Given the description of an element on the screen output the (x, y) to click on. 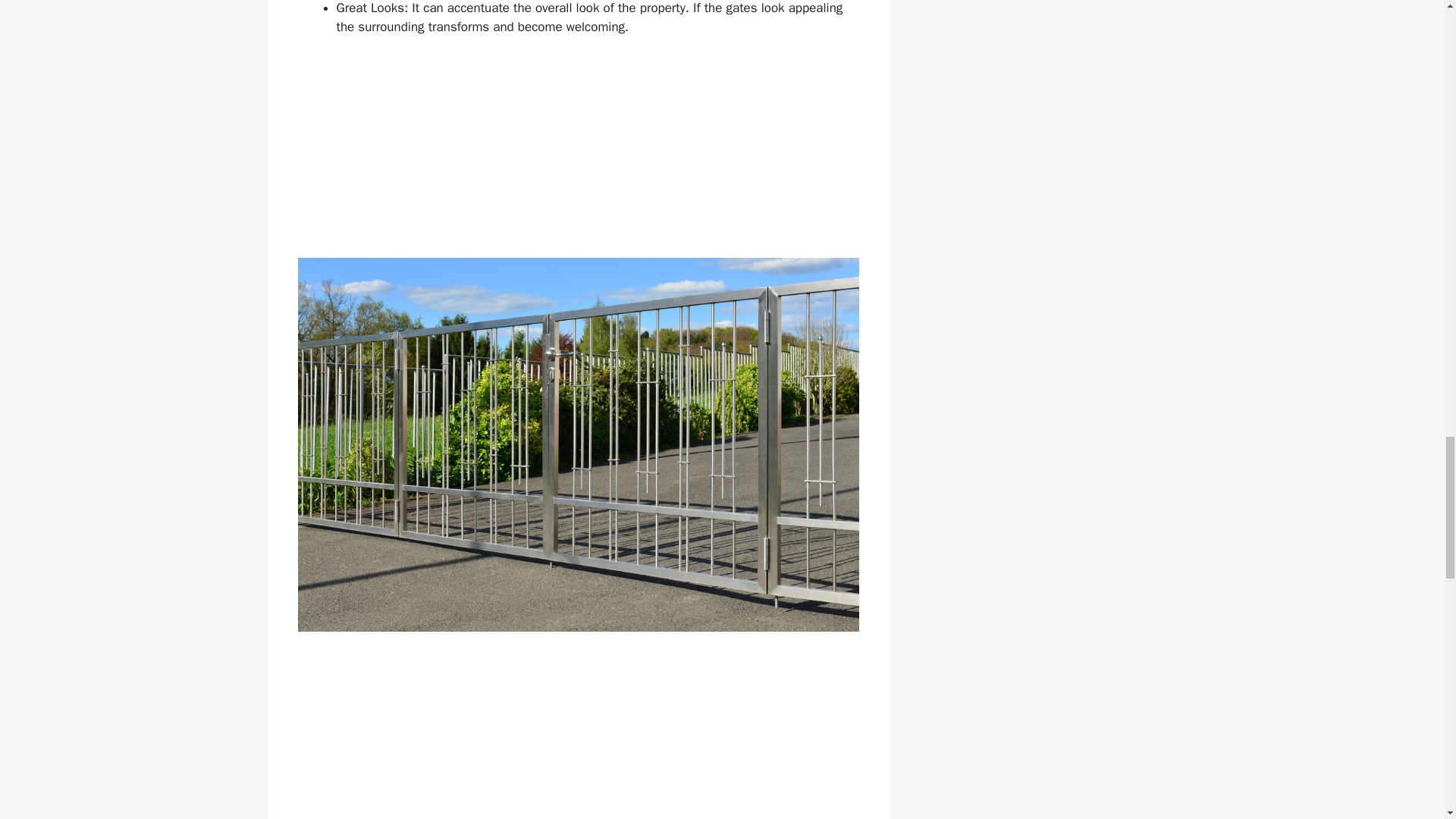
Advertisement (664, 735)
